Given the description of an element on the screen output the (x, y) to click on. 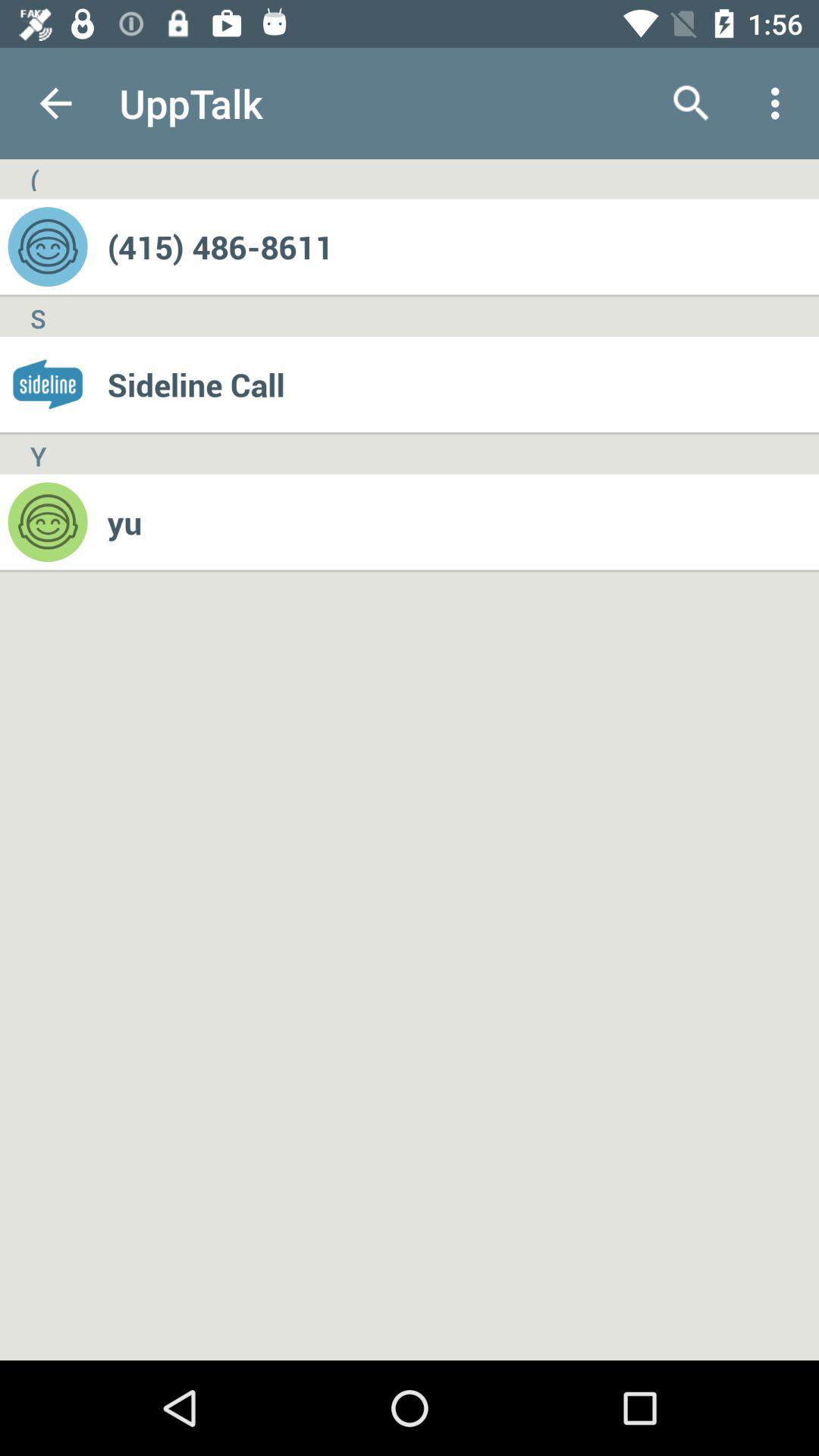
launch the icon to the left of upptalk icon (55, 103)
